Given the description of an element on the screen output the (x, y) to click on. 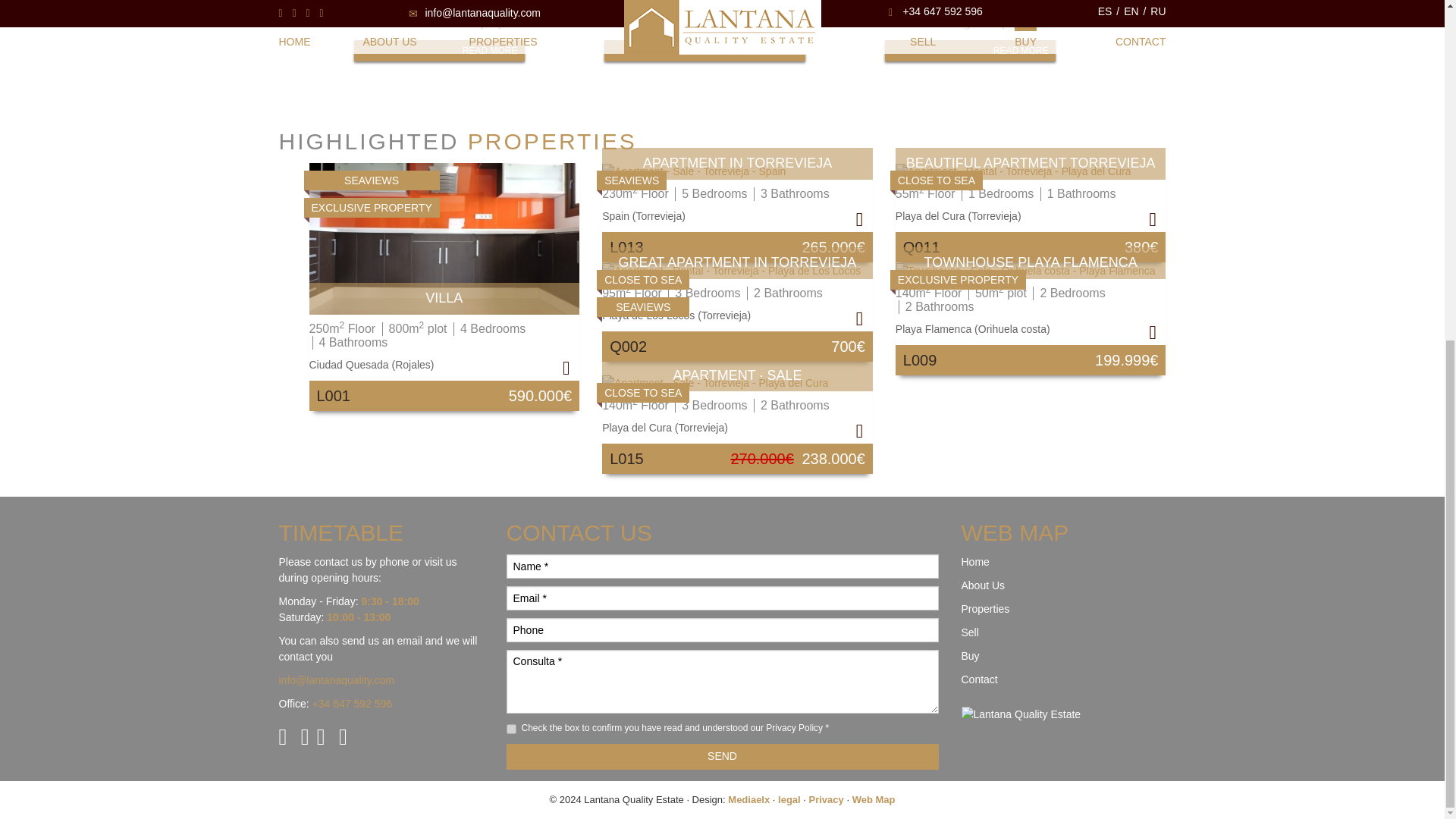
Apartment - Sale - Torrevieja - Playa del Cura (715, 383)
Villa  - Sale - Rojales - Ciudad Quesada (443, 238)
Apartment - Sale - Torrevieja - Spain (694, 171)
Townhouse - Sale - Orihuela costa - Playa Flamenca (987, 33)
on (1025, 270)
Apartment - Rental - Torrevieja - Playa del Cura (511, 728)
Apartment - Rental - Torrevieja - Playa de Los Locos  (456, 33)
